Given the description of an element on the screen output the (x, y) to click on. 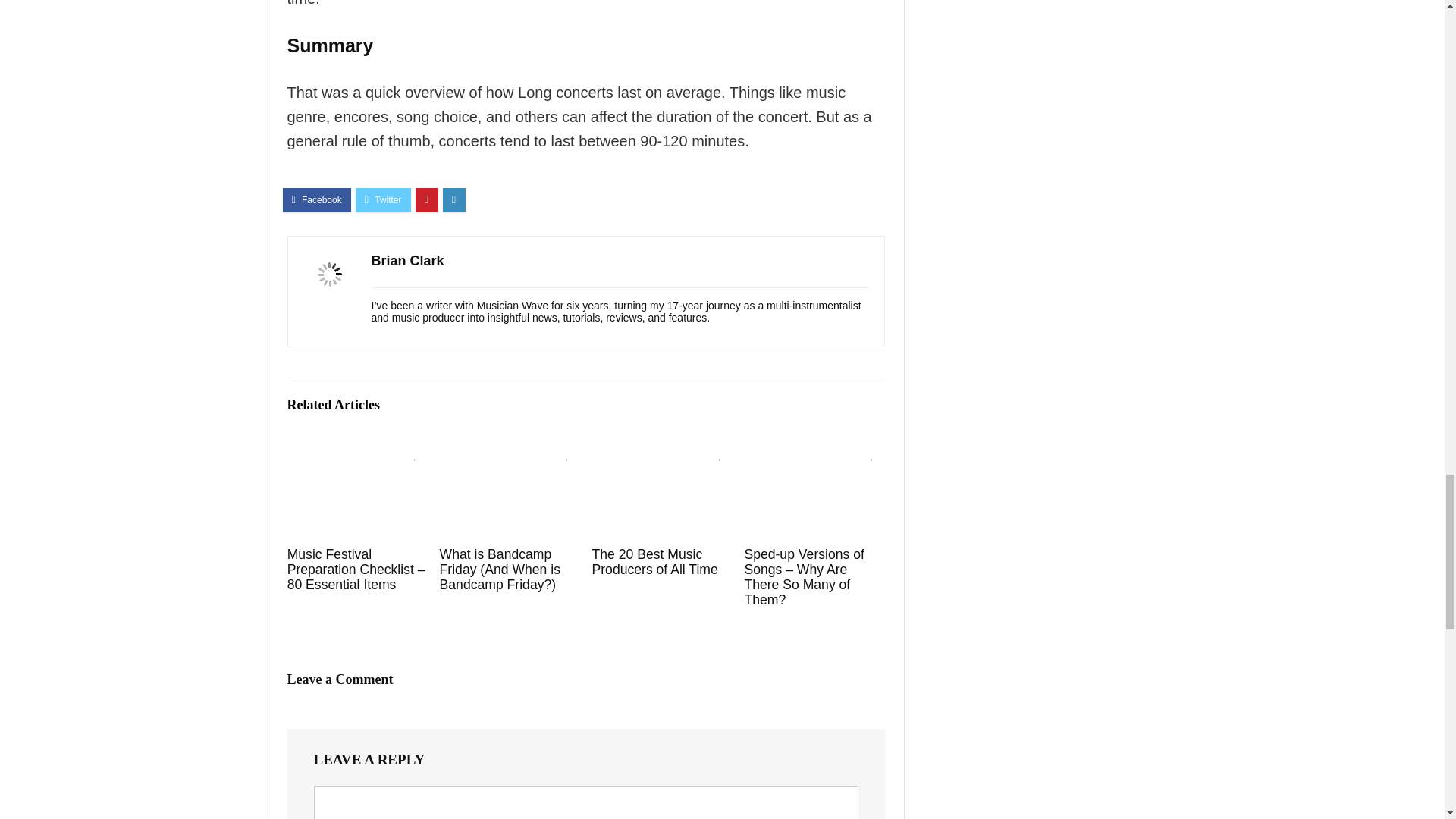
Brian Clark (407, 260)
The 20 Best Music Producers of All Time (654, 562)
